Given the description of an element on the screen output the (x, y) to click on. 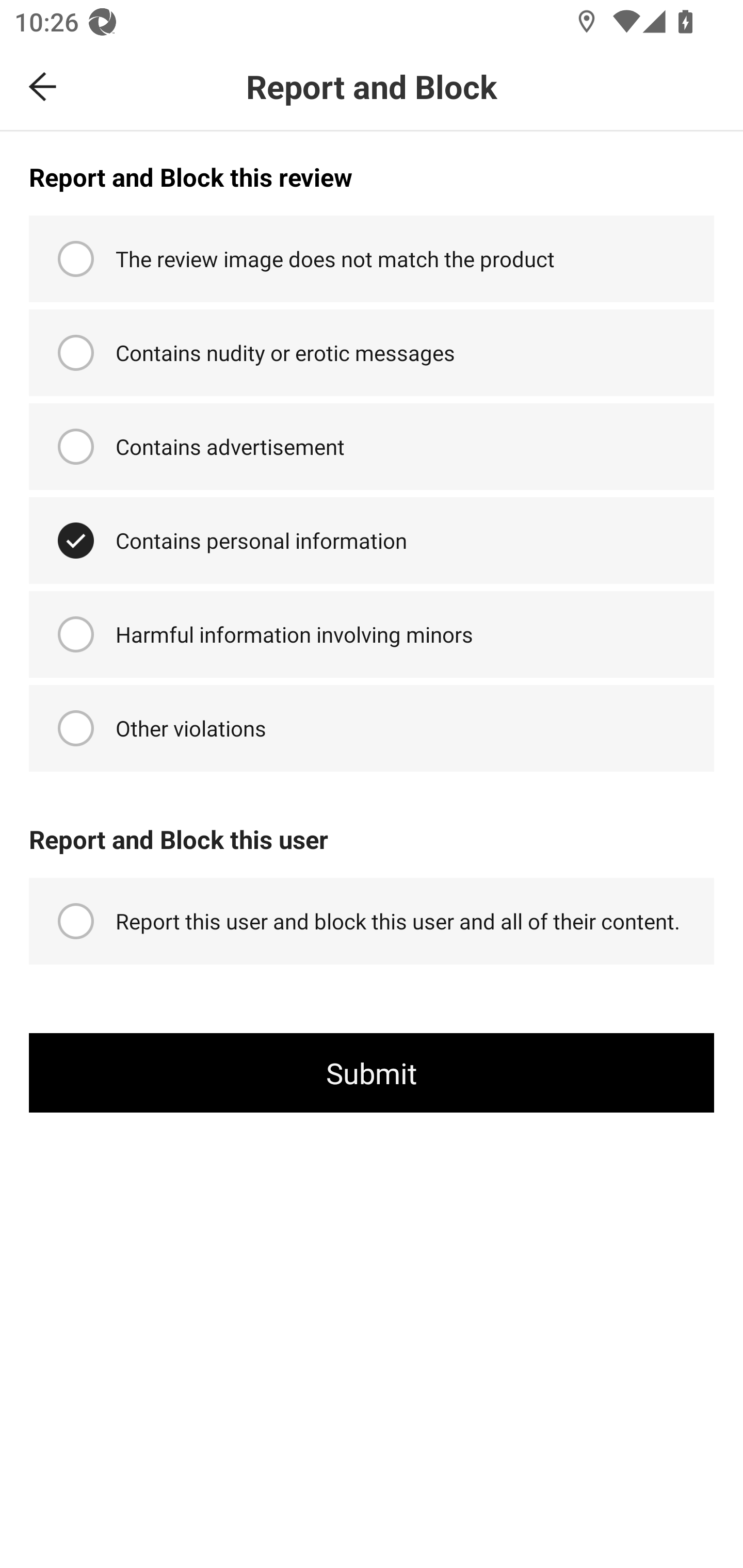
Navigate up (43, 86)
The review image does not match the product (371, 259)
Contains nudity or erotic messages (371, 352)
Contains advertisement (371, 445)
Contains personal information (371, 540)
Harmful information involving minors (371, 634)
Other violations (371, 728)
Report and Block this user (371, 828)
Submit (371, 1073)
